Given the description of an element on the screen output the (x, y) to click on. 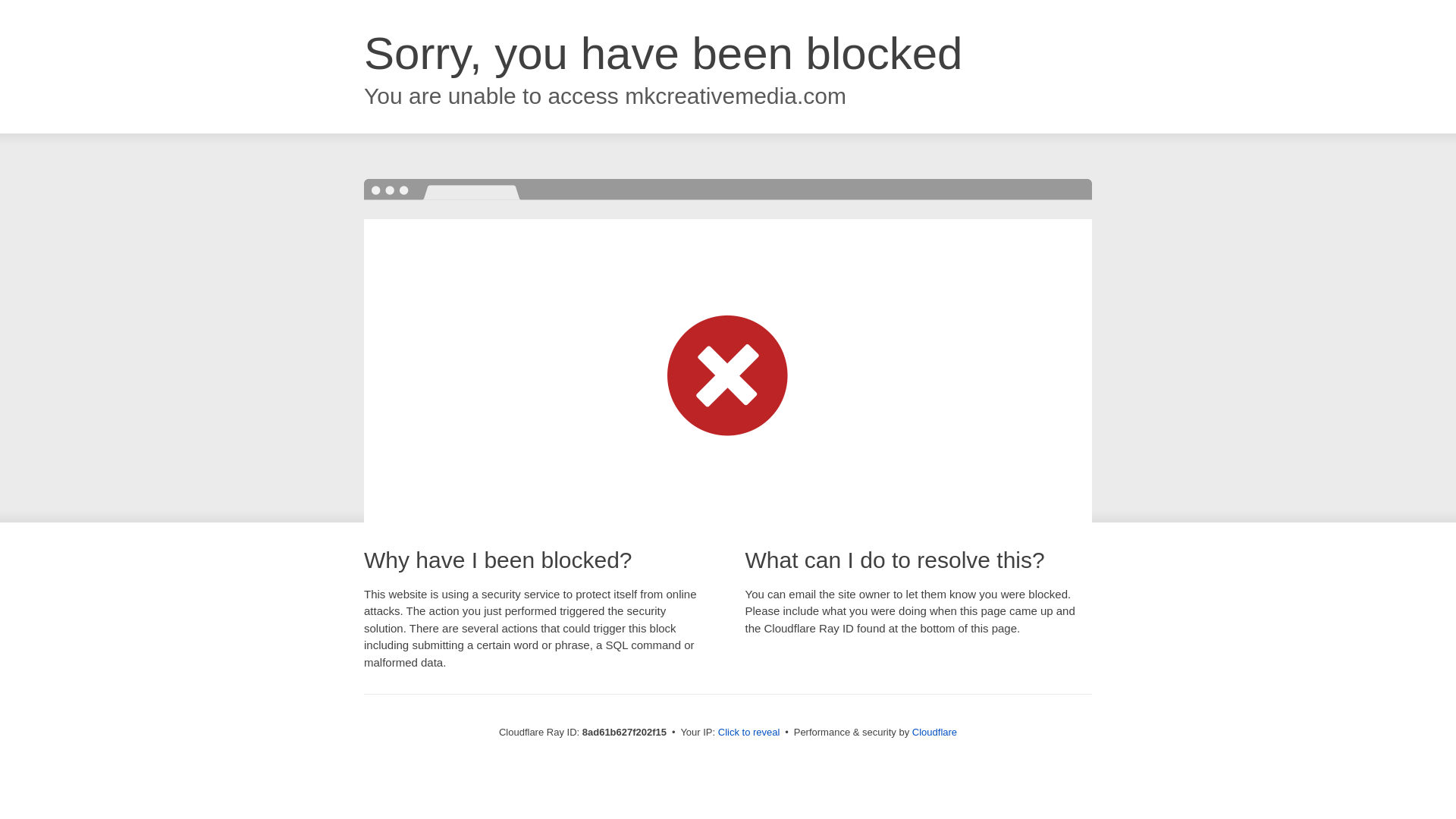
Click to reveal (748, 732)
Cloudflare (934, 731)
